Given the description of an element on the screen output the (x, y) to click on. 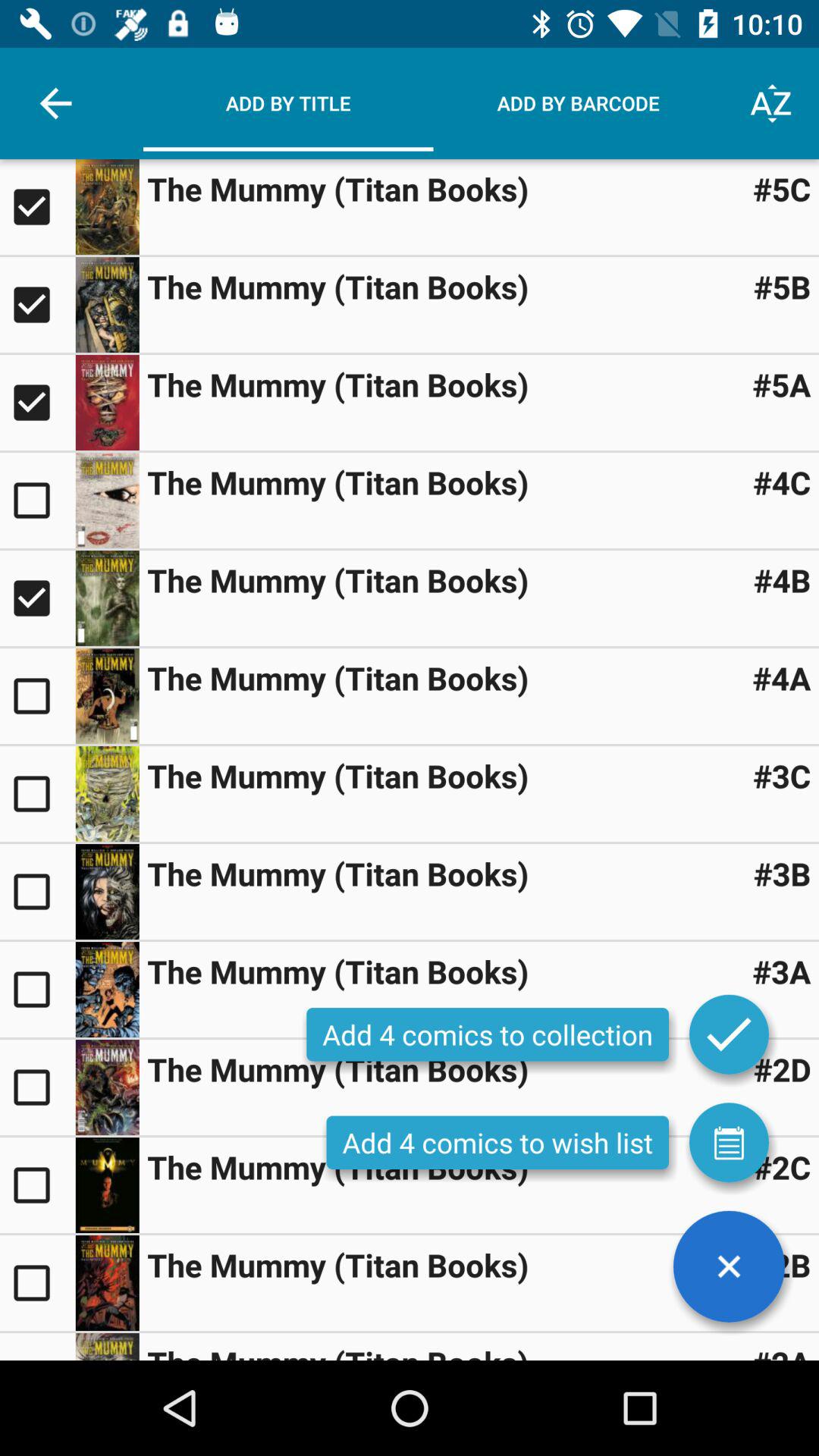
add to list (729, 1142)
